Given the description of an element on the screen output the (x, y) to click on. 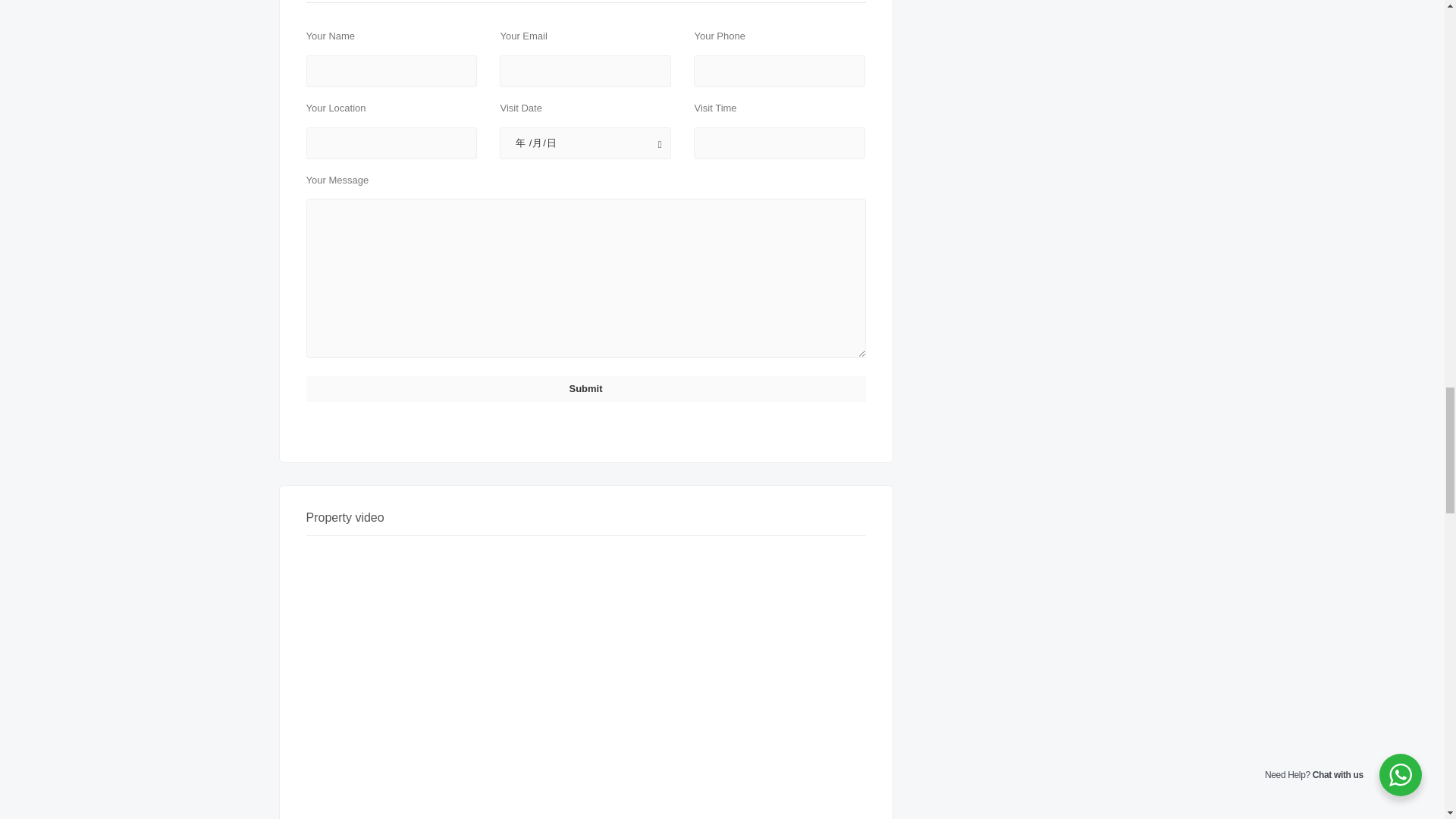
Submit (585, 388)
